Given the description of an element on the screen output the (x, y) to click on. 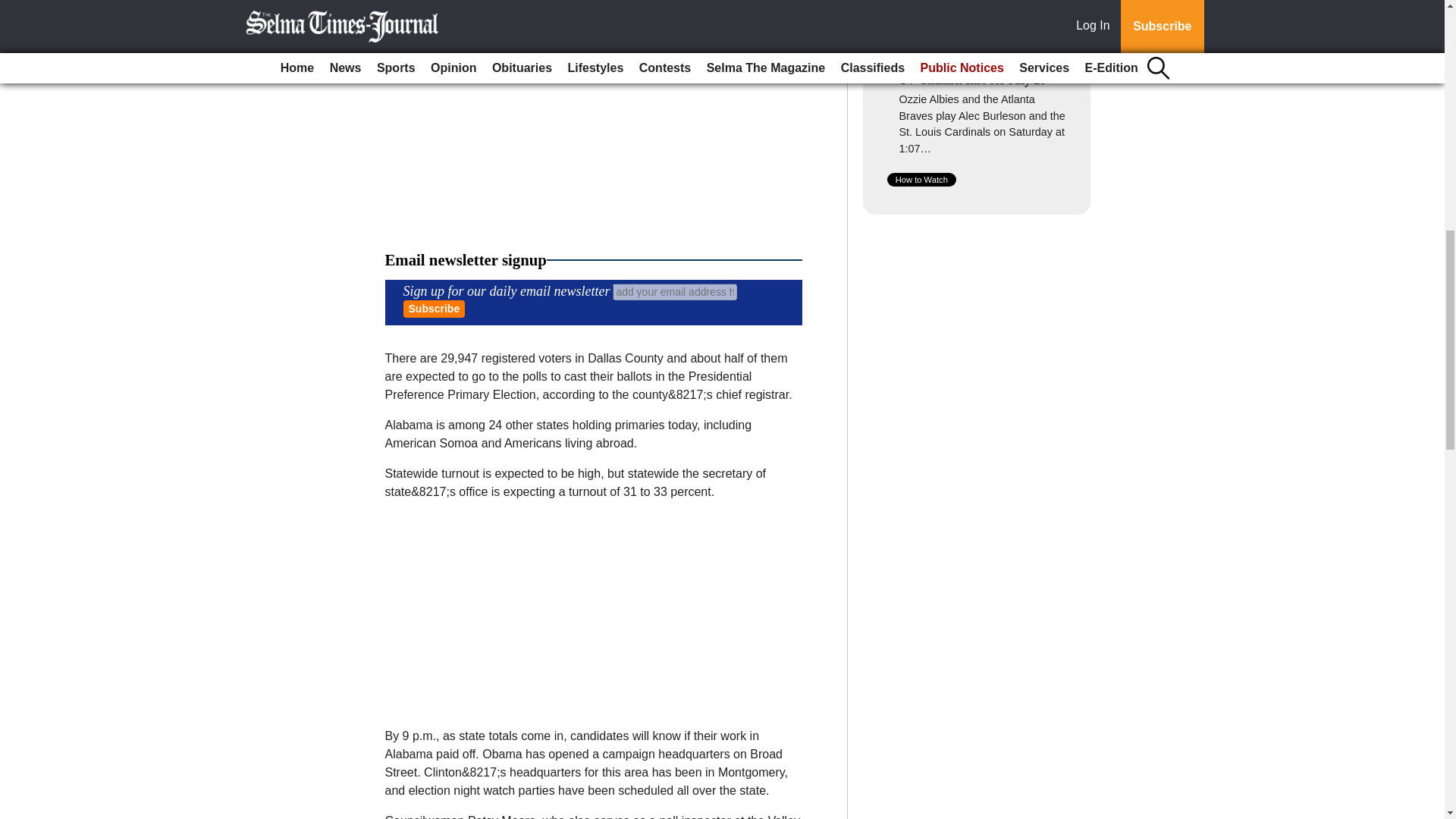
Subscribe (434, 308)
How to Watch (921, 179)
Subscribe (434, 308)
